Given the description of an element on the screen output the (x, y) to click on. 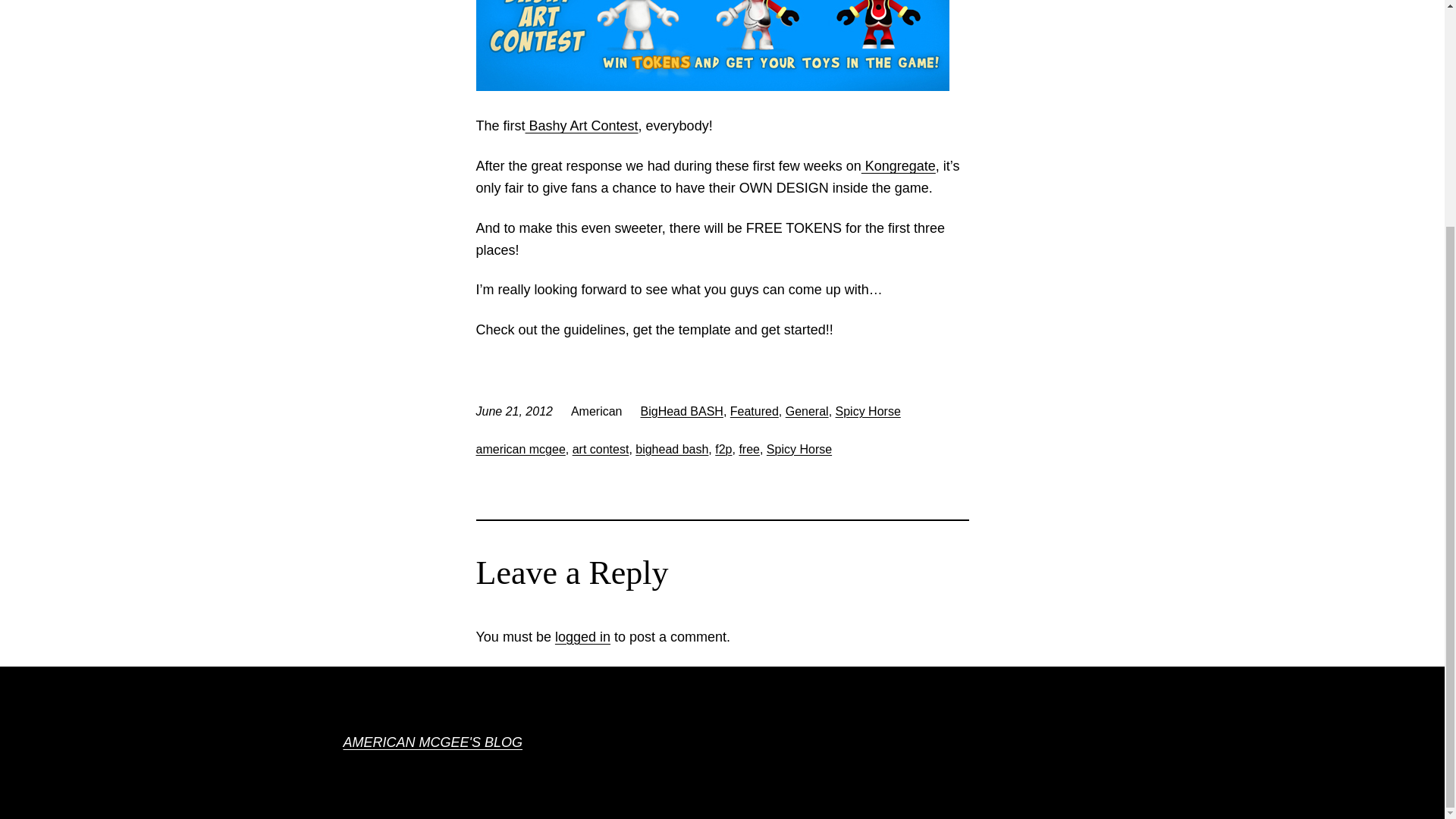
f2p (723, 449)
bighead bash (670, 449)
Spicy Horse (868, 410)
logged in (582, 636)
Spicy Horse (799, 449)
art contest (600, 449)
General (807, 410)
AMERICAN MCGEE'S BLOG (431, 742)
Kongregate (898, 165)
Featured (754, 410)
